Given the description of an element on the screen output the (x, y) to click on. 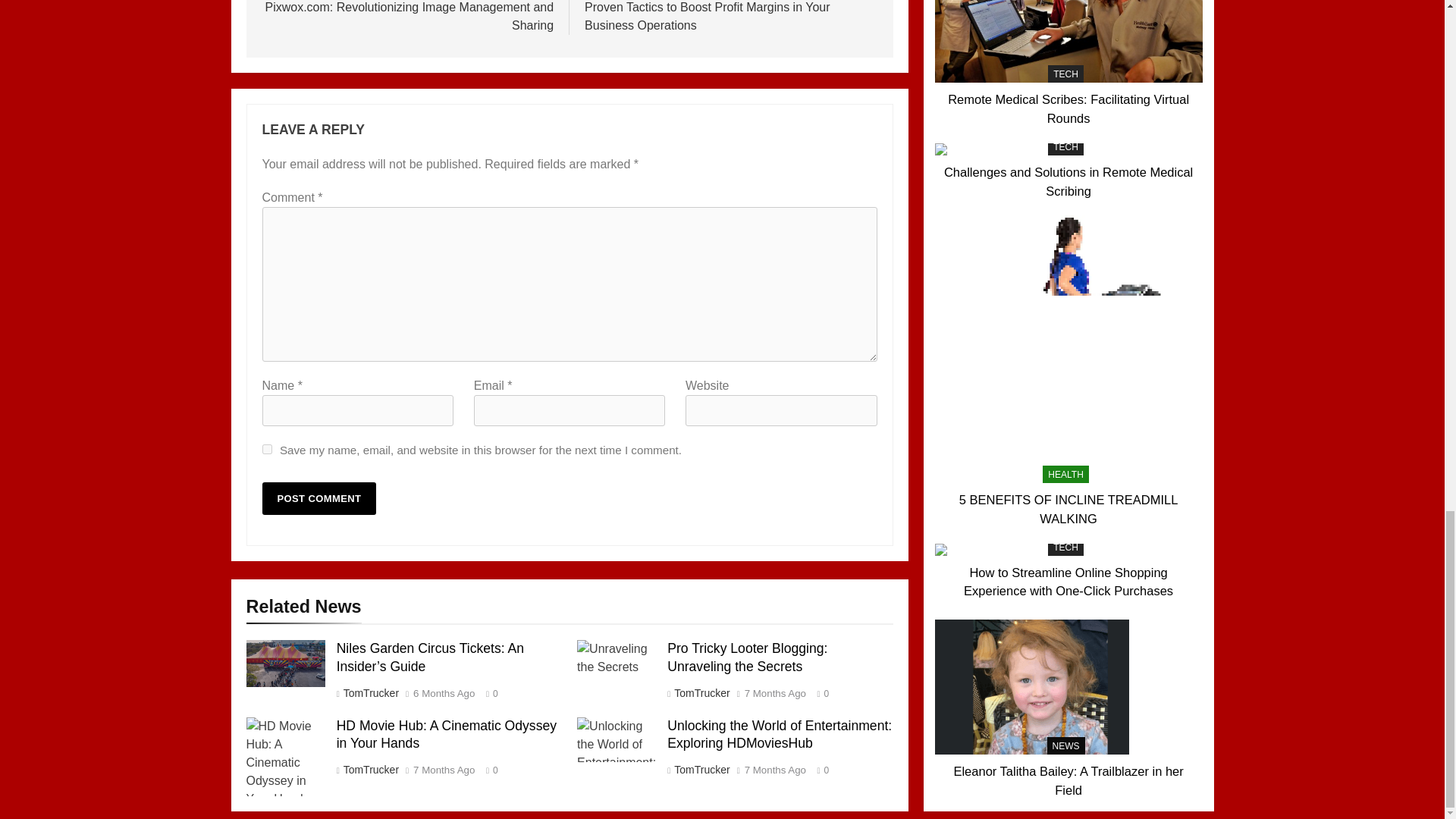
Post Comment (319, 498)
yes (267, 449)
Post Comment (319, 498)
